Given the description of an element on the screen output the (x, y) to click on. 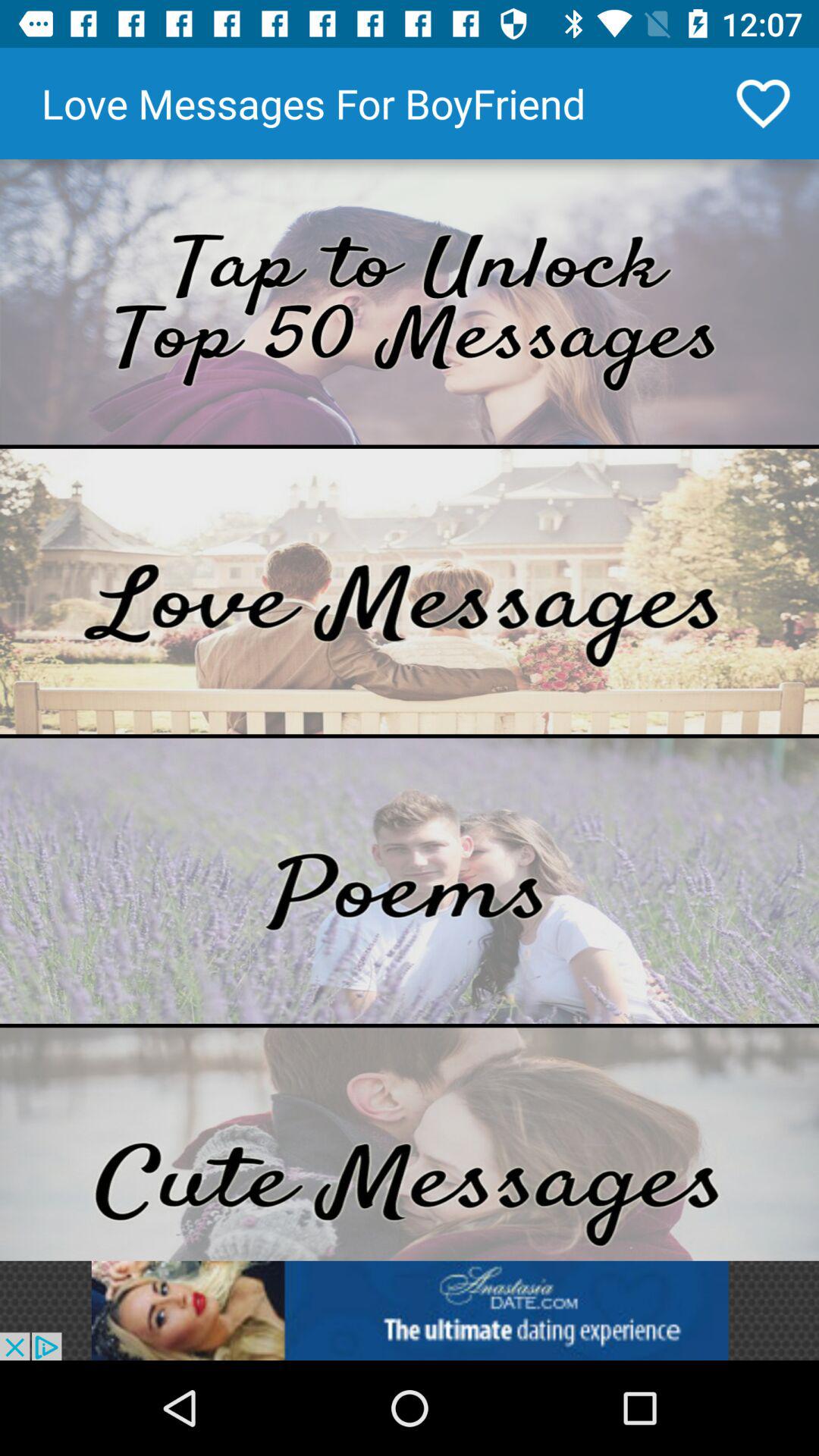
open love messages (409, 591)
